Given the description of an element on the screen output the (x, y) to click on. 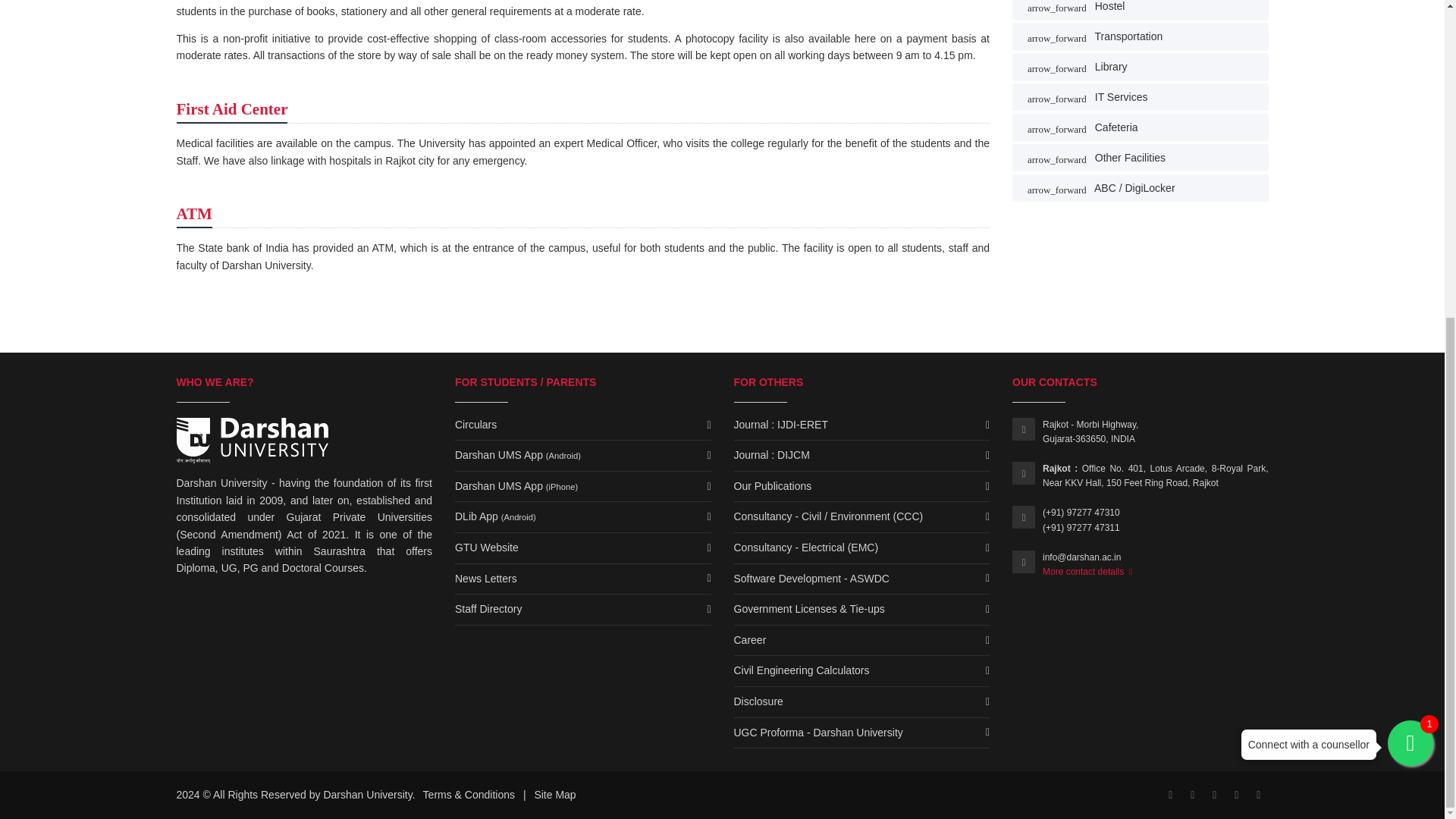
Transportation (1139, 35)
Hostel (1139, 9)
Other Facilities (1139, 157)
Cafeteria (1139, 126)
IT Services (1139, 96)
Library (1139, 66)
